Given the description of an element on the screen output the (x, y) to click on. 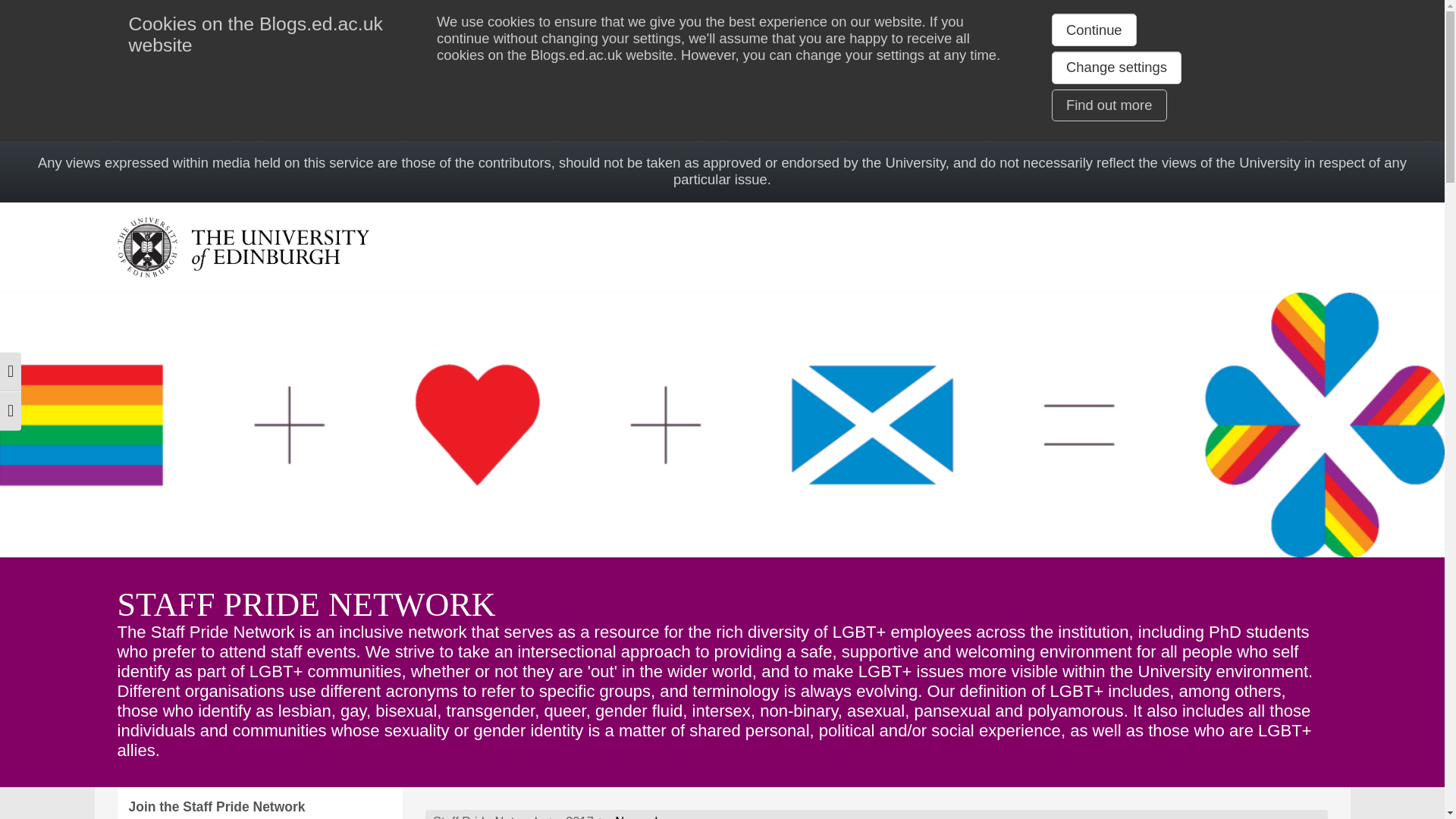
Go to this blog's homepage. (486, 816)
View archive for 2017. (580, 816)
Join the Staff Pride Network (259, 803)
Join the Staff Pride Network (259, 803)
STAFF PRIDE NETWORK (305, 604)
Find out more (1109, 105)
Continue (1094, 29)
Change settings (1116, 67)
